Given the description of an element on the screen output the (x, y) to click on. 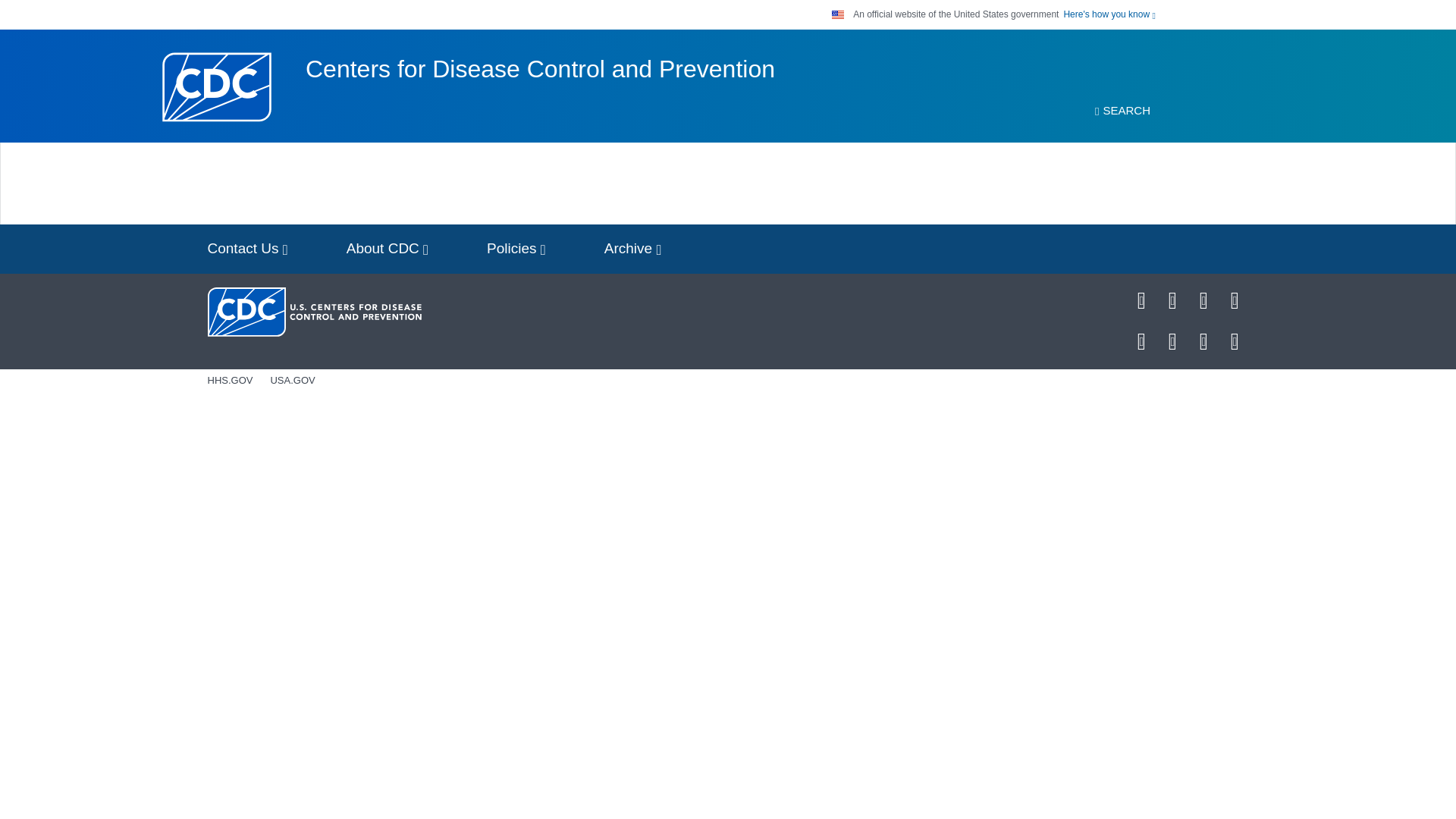
Archive (633, 248)
Here's how you know (1108, 14)
SEARCH (1122, 110)
About CDC (387, 248)
Centers for Disease Control and Prevention (539, 68)
Contact Us (247, 248)
Policies (516, 248)
